Given the description of an element on the screen output the (x, y) to click on. 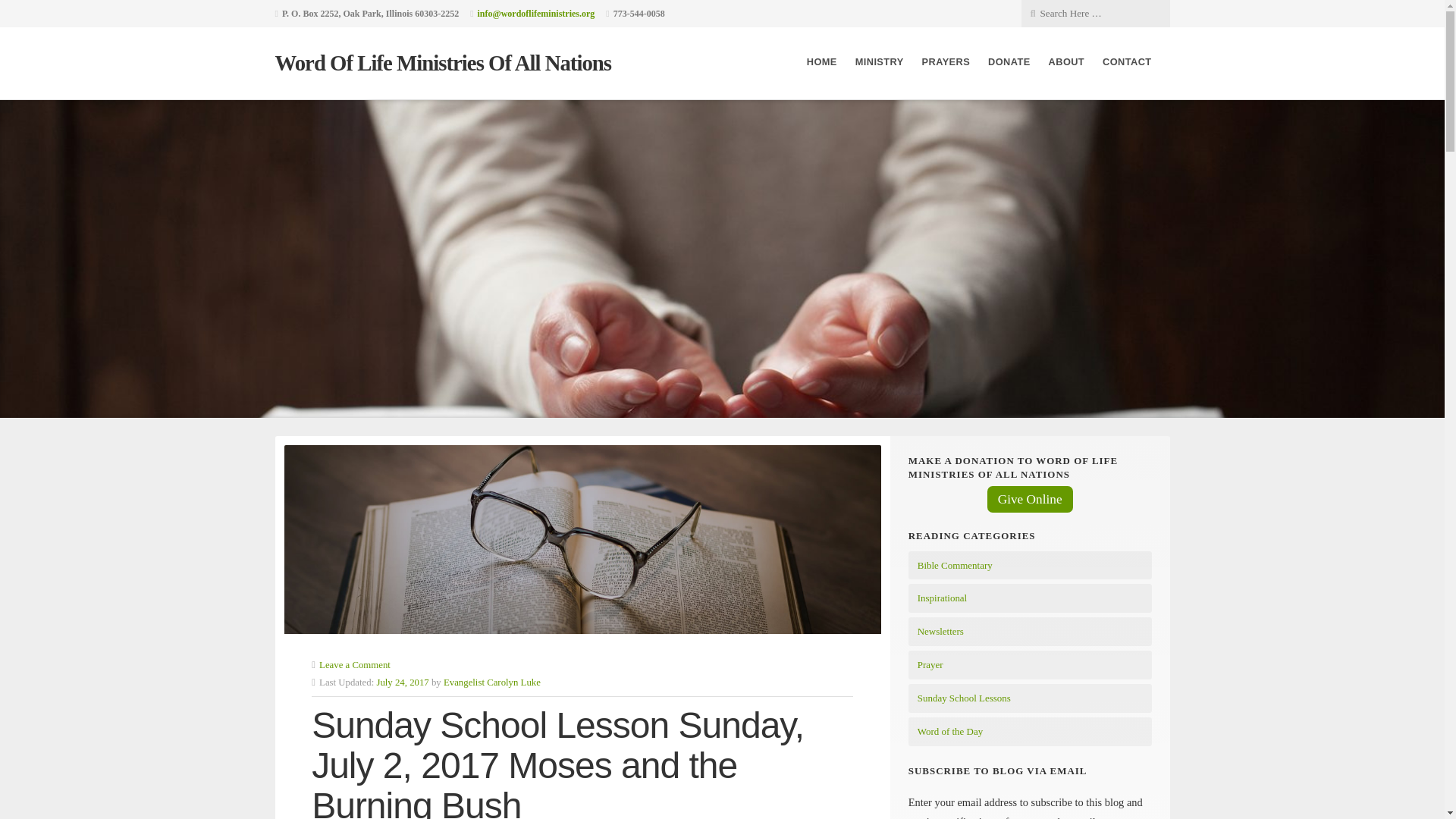
HOME (821, 62)
Bible Commentary (954, 564)
Prayer (930, 664)
Sunday School Lessons (963, 697)
Give Online (1030, 499)
Evangelist Carolyn Luke (492, 682)
Leave a Comment (354, 665)
11:10 pm (401, 682)
July 24, 2017 (401, 682)
ABOUT (1066, 62)
PRAYERS (946, 62)
View all posts by Evangelist Carolyn Luke (492, 682)
Go (116, 12)
MINISTRY (880, 62)
Word Of Life Ministries Of All Nations (443, 62)
